Given the description of an element on the screen output the (x, y) to click on. 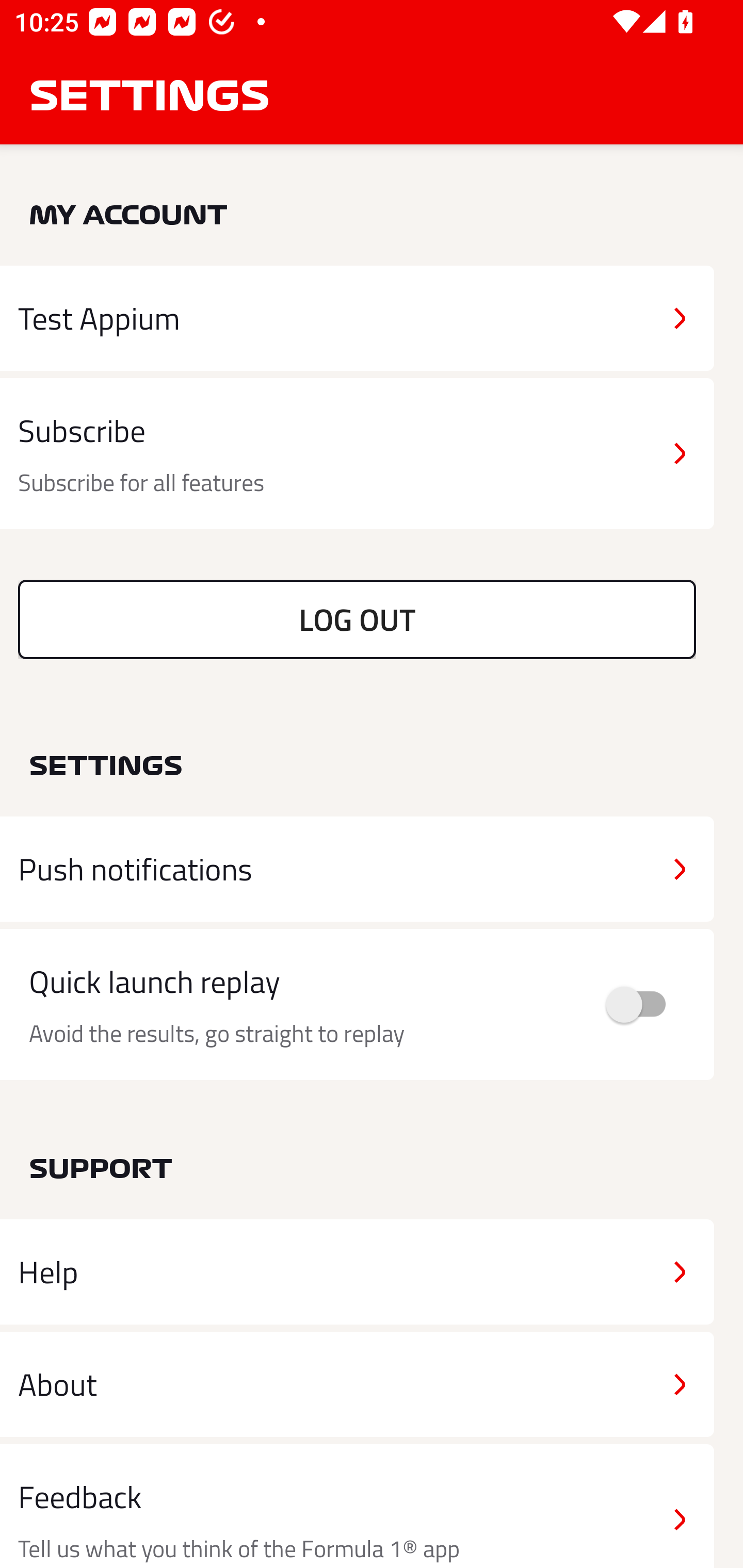
Test Appium (357, 317)
Subscribe Subscribe for all features (357, 453)
LOG OUT (356, 619)
Push notifications (357, 868)
Help (357, 1271)
About (357, 1383)
